Given the description of an element on the screen output the (x, y) to click on. 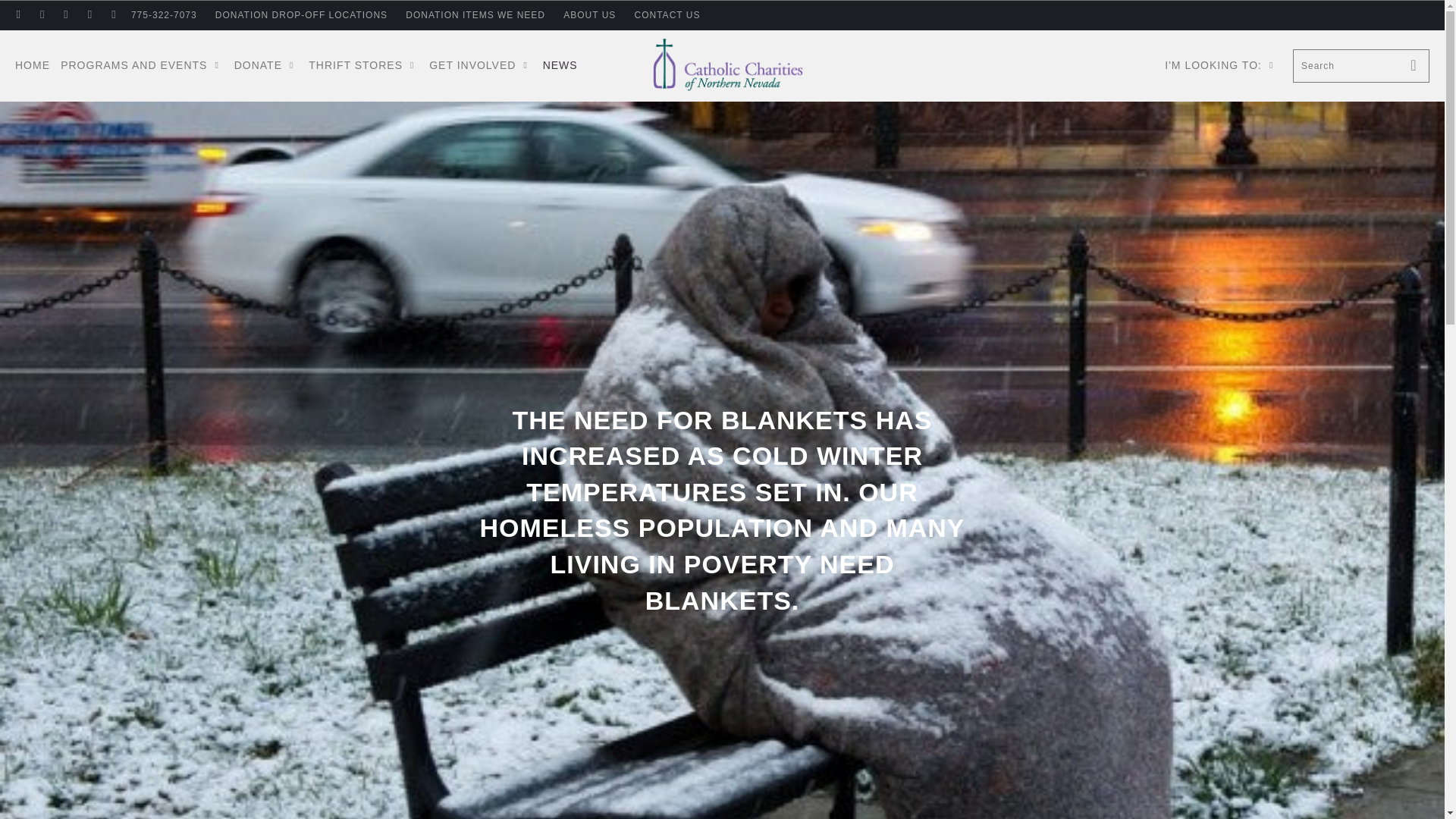
Catholic Charities of Northern Nevada on Instagram (112, 14)
Catholic Charities of Northern Nevada on Facebook (41, 14)
Catholic Charities of Northern Nevada on Vimeo (89, 14)
Catholic Charities of Northern Nevada on YouTube (65, 14)
Catholic Charities of Northern Nevada on Twitter (17, 14)
Catholic Charities of Northern Nevada (727, 65)
